Given the description of an element on the screen output the (x, y) to click on. 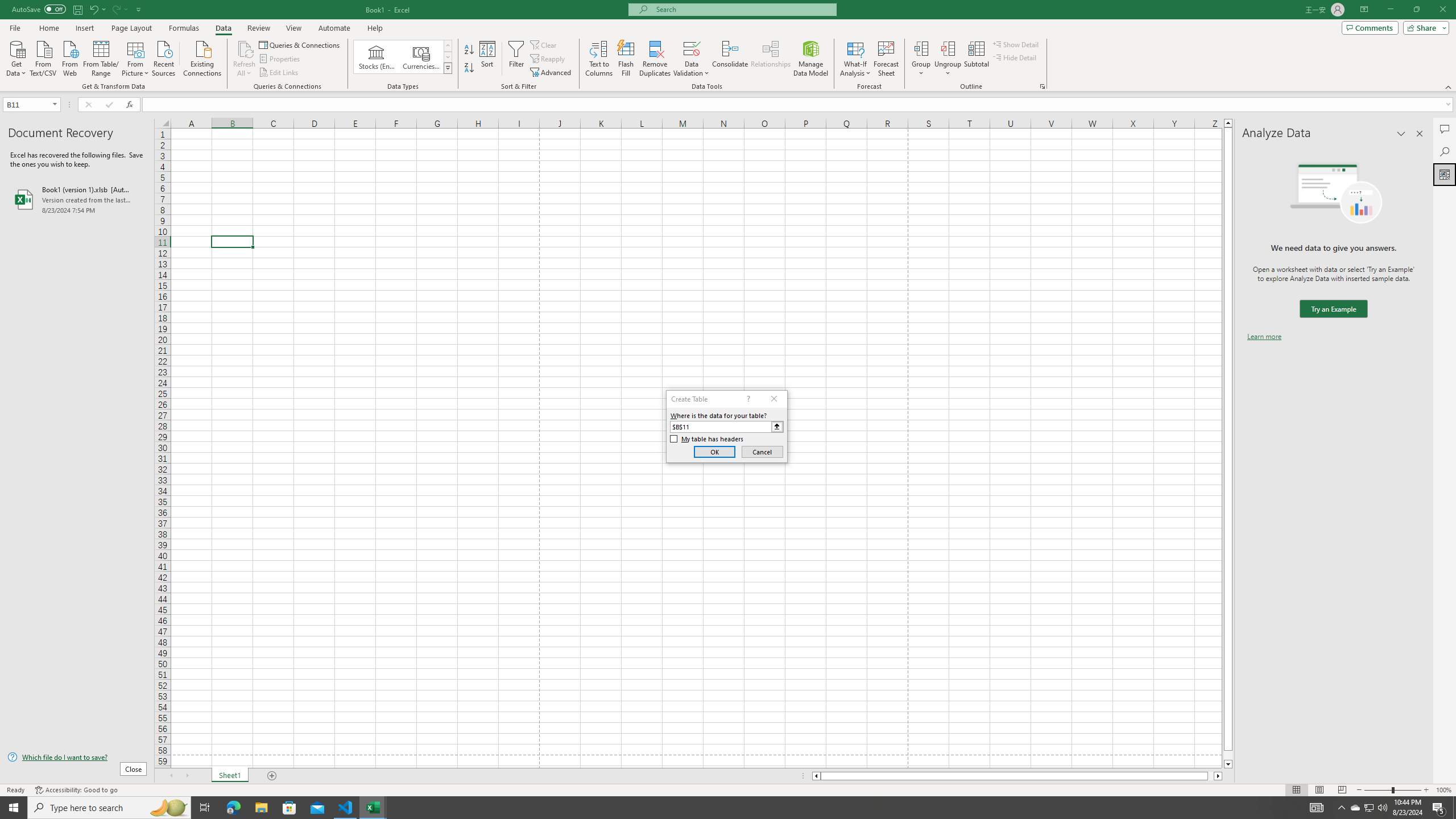
Sheet1 (229, 775)
What-If Analysis (855, 58)
Line up (1228, 122)
Refresh All (244, 48)
Group and Outline Settings (1042, 85)
Add Sheet (272, 775)
Reapply (548, 58)
Formula Bar (799, 104)
Filter (515, 58)
Queries & Connections (300, 44)
Data Validation... (691, 48)
From Picture (135, 57)
